Given the description of an element on the screen output the (x, y) to click on. 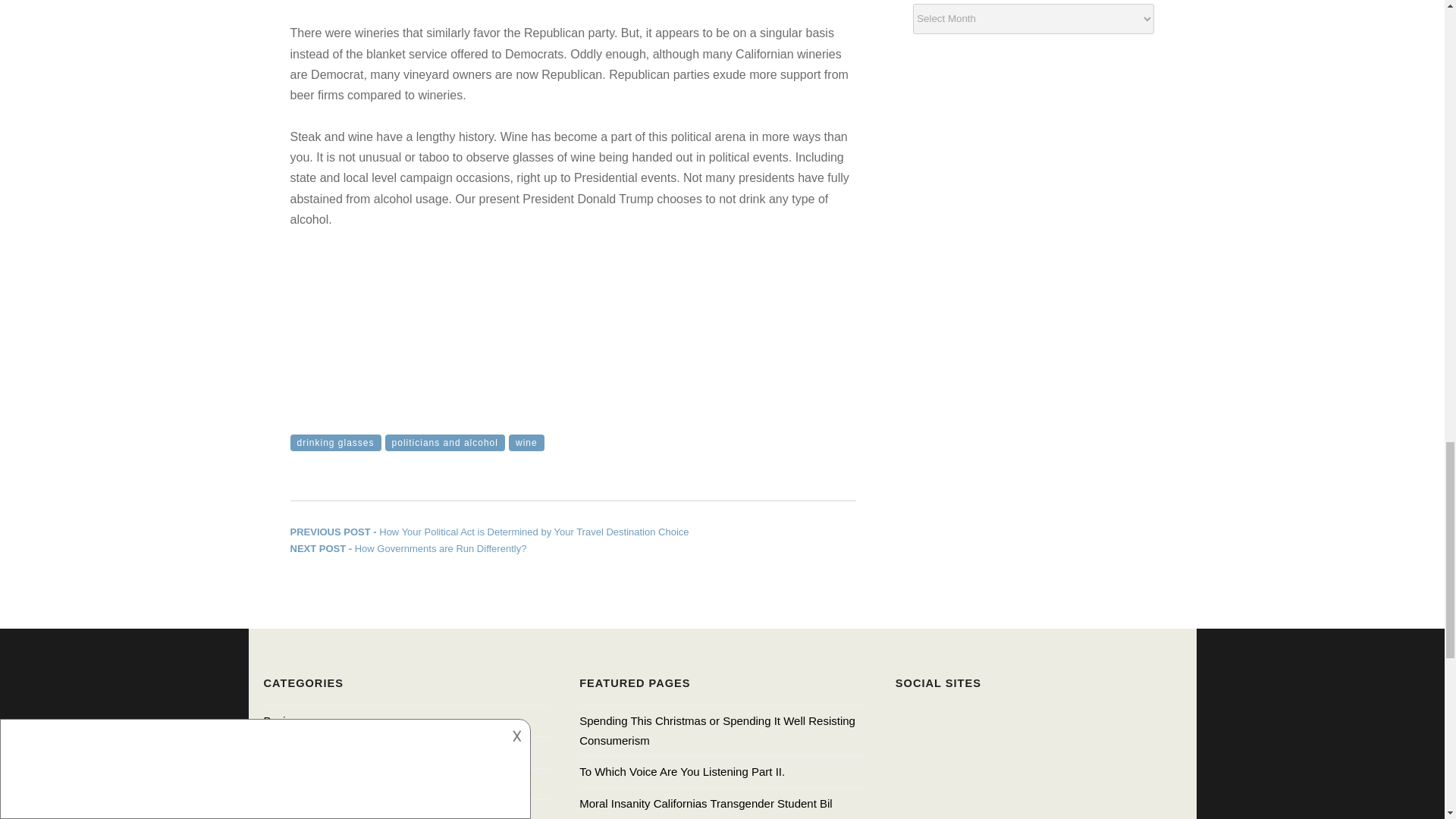
politicians and alcohol (407, 548)
wine (445, 442)
drinking glasses (526, 442)
